Given the description of an element on the screen output the (x, y) to click on. 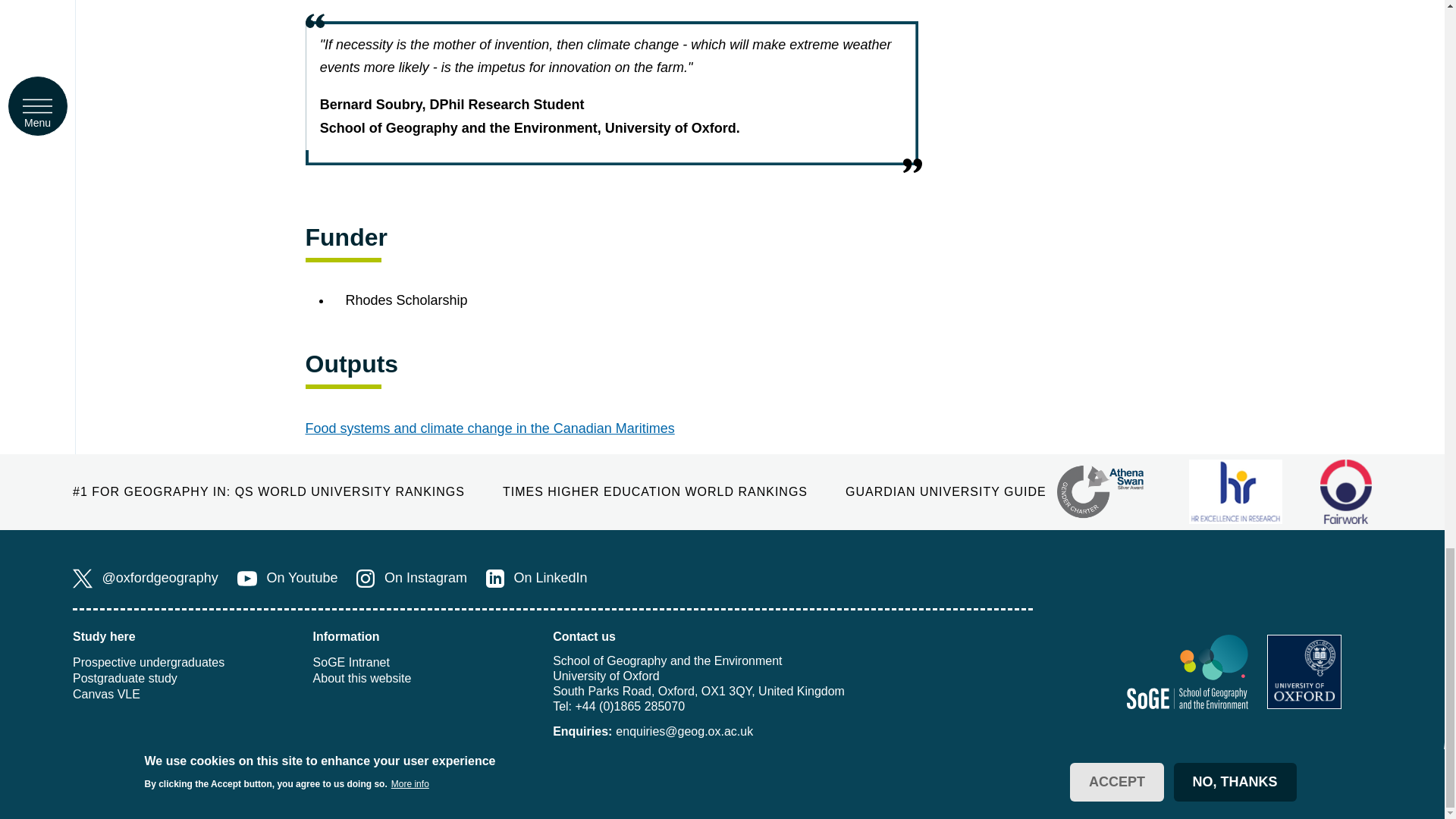
Food systems and climate change in the Canadian Maritimes (489, 427)
GUARDIAN UNIVERSITY GUIDE (945, 491)
TIMES HIGHER EDUCATION WORLD RANKINGS (655, 491)
On Youtube (287, 578)
